Given the description of an element on the screen output the (x, y) to click on. 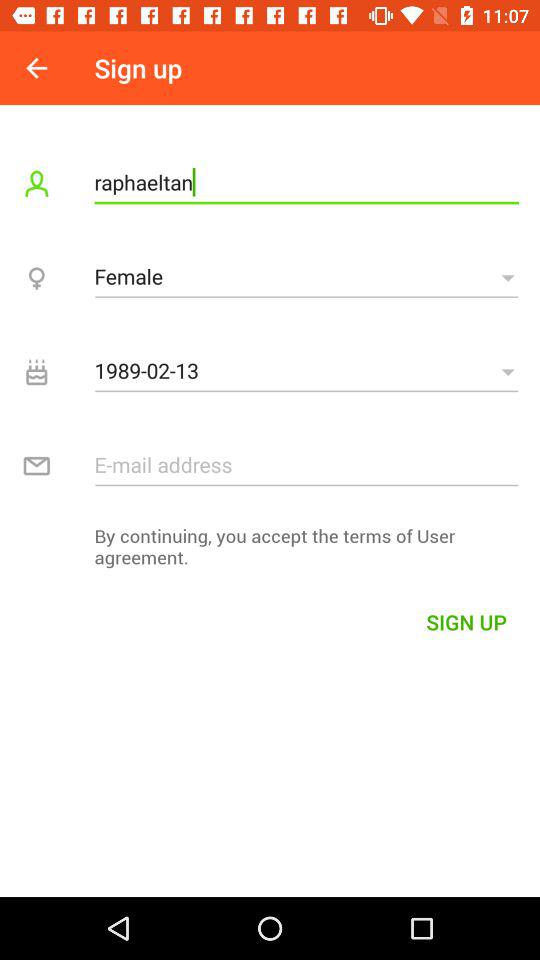
launch raphaeltan icon (306, 181)
